Given the description of an element on the screen output the (x, y) to click on. 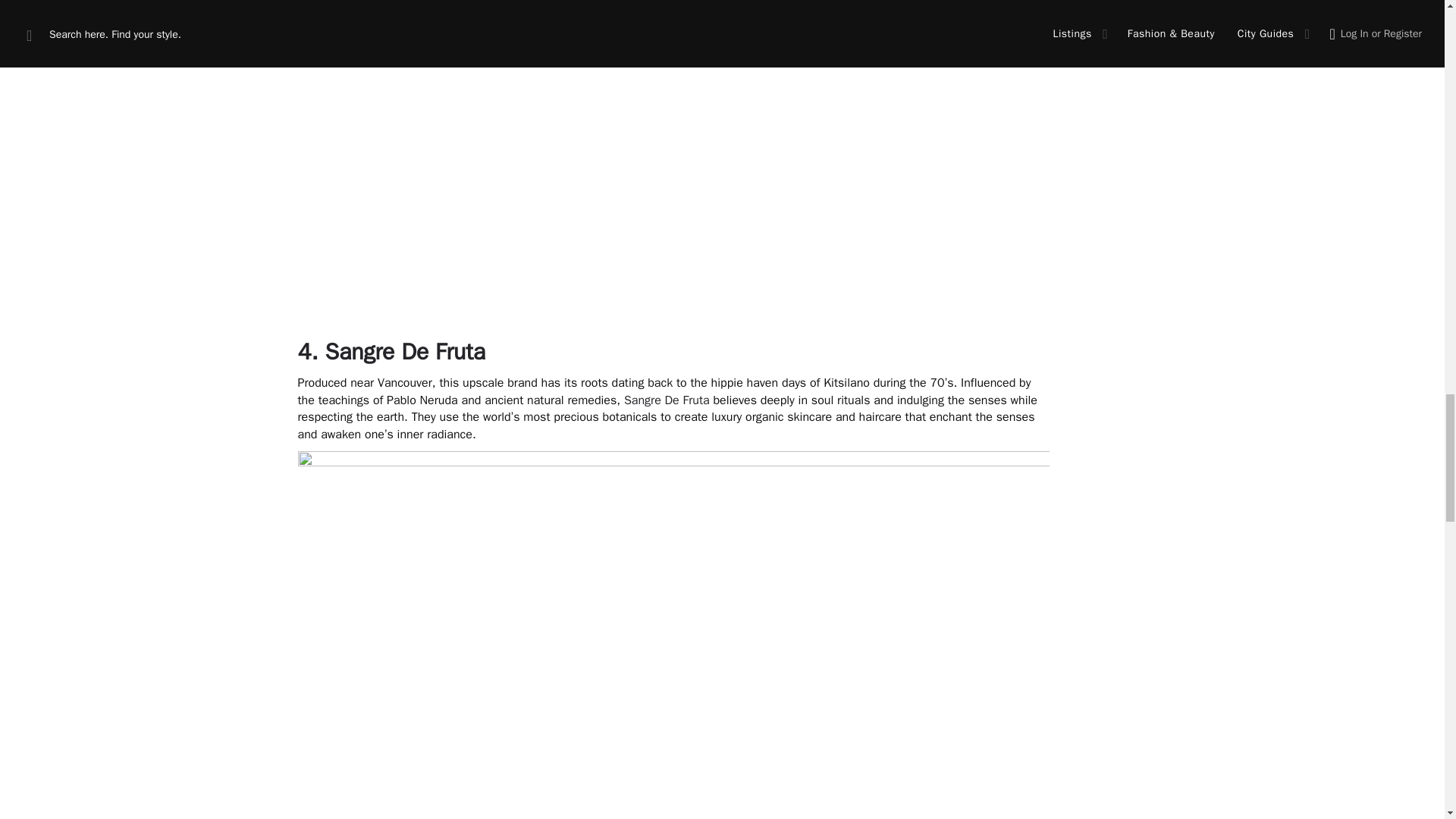
Sangre De Fruta (667, 400)
Sangre De Fruta (404, 351)
